Given the description of an element on the screen output the (x, y) to click on. 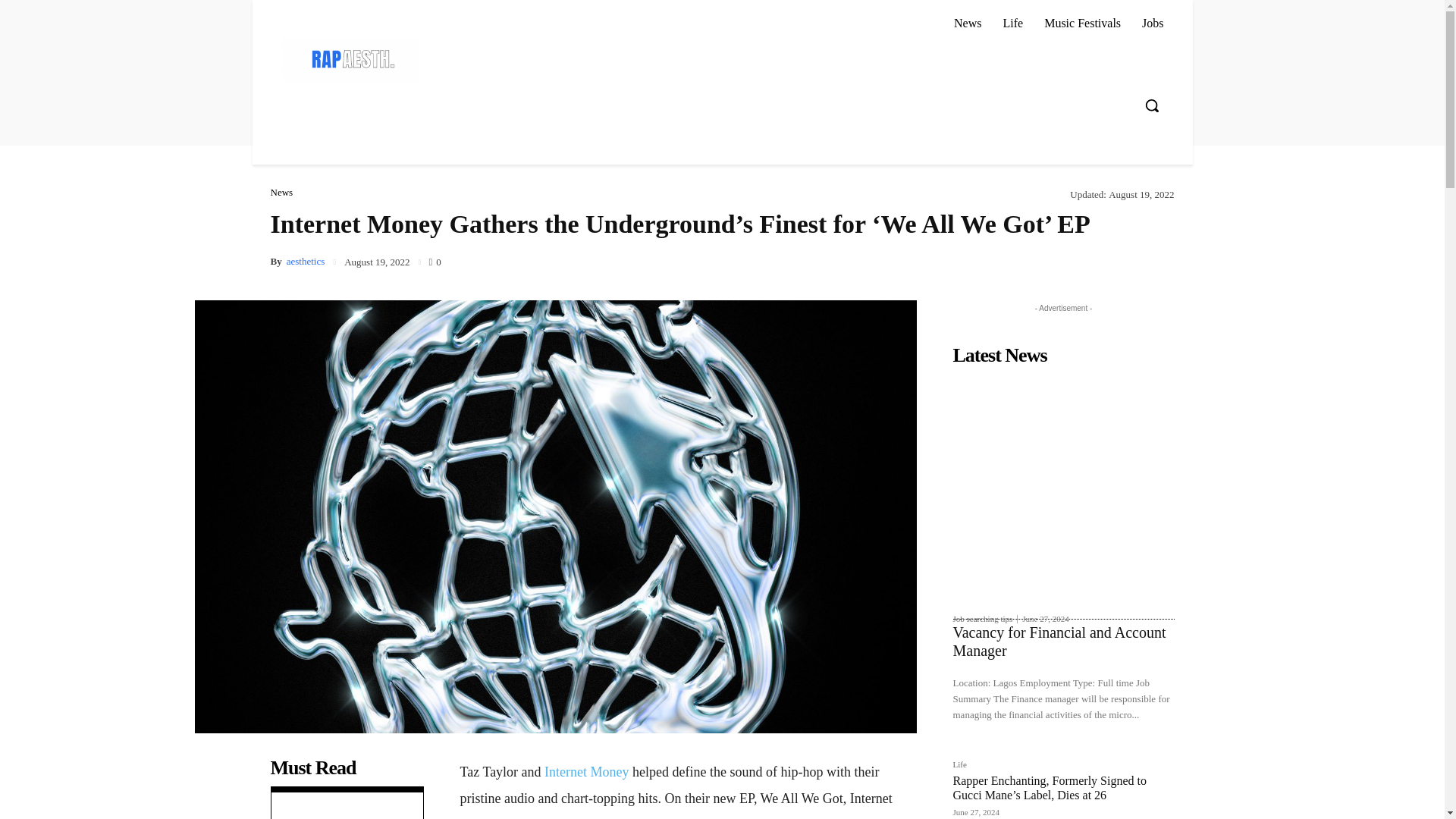
Jobs (1152, 22)
News (967, 22)
0 (434, 260)
aesthetics (305, 261)
Music Festivals (1082, 22)
News (280, 192)
Life (1012, 22)
